Given the description of an element on the screen output the (x, y) to click on. 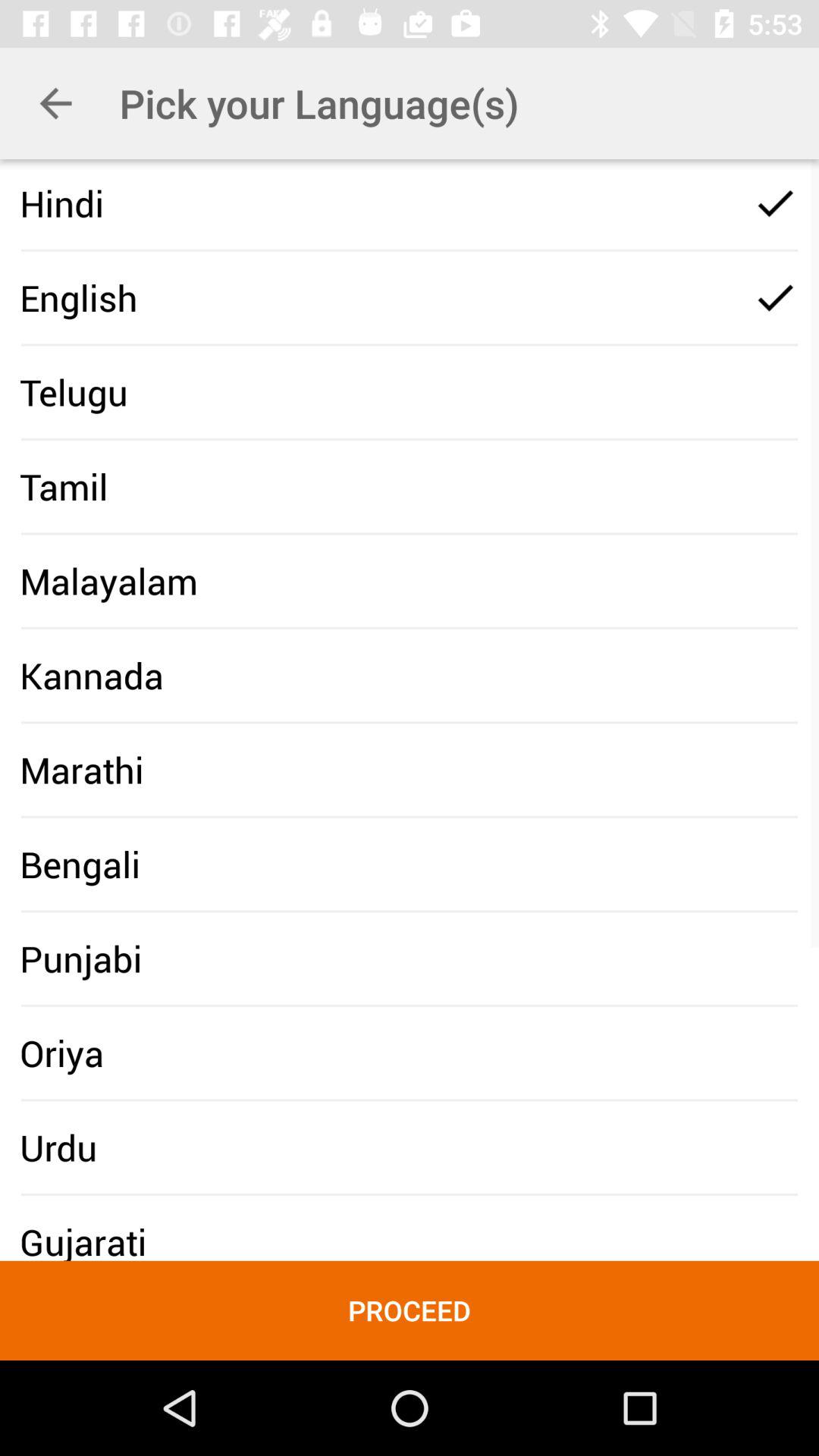
tap the proceed icon (409, 1310)
